Given the description of an element on the screen output the (x, y) to click on. 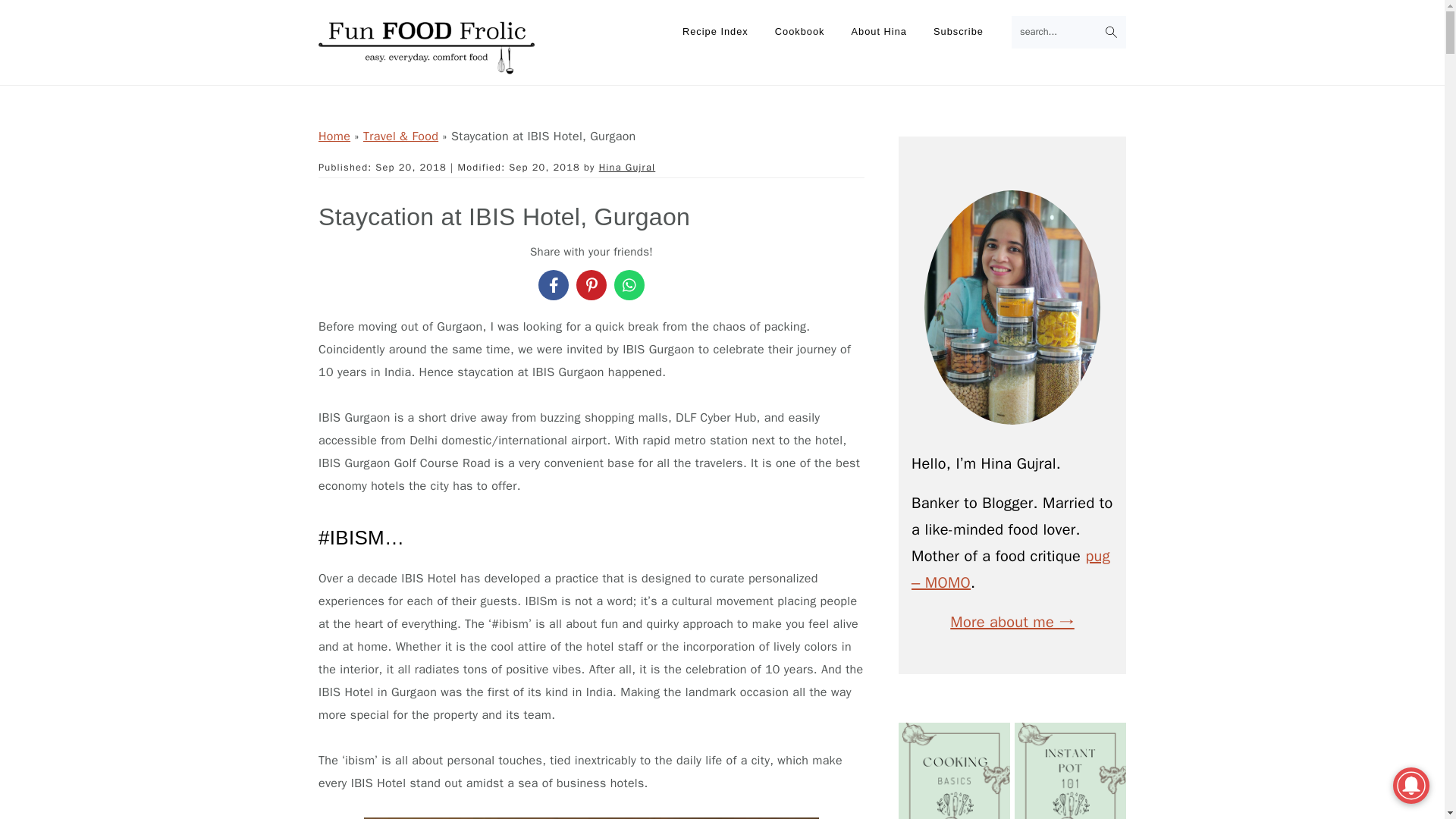
Home (334, 136)
Subscribe (957, 32)
Fun FOOD Frolic (426, 65)
Recipe Index (715, 32)
Cookbook (798, 32)
Fun FOOD Frolic (426, 46)
About Hina (879, 32)
Hina Gujral (627, 167)
